Given the description of an element on the screen output the (x, y) to click on. 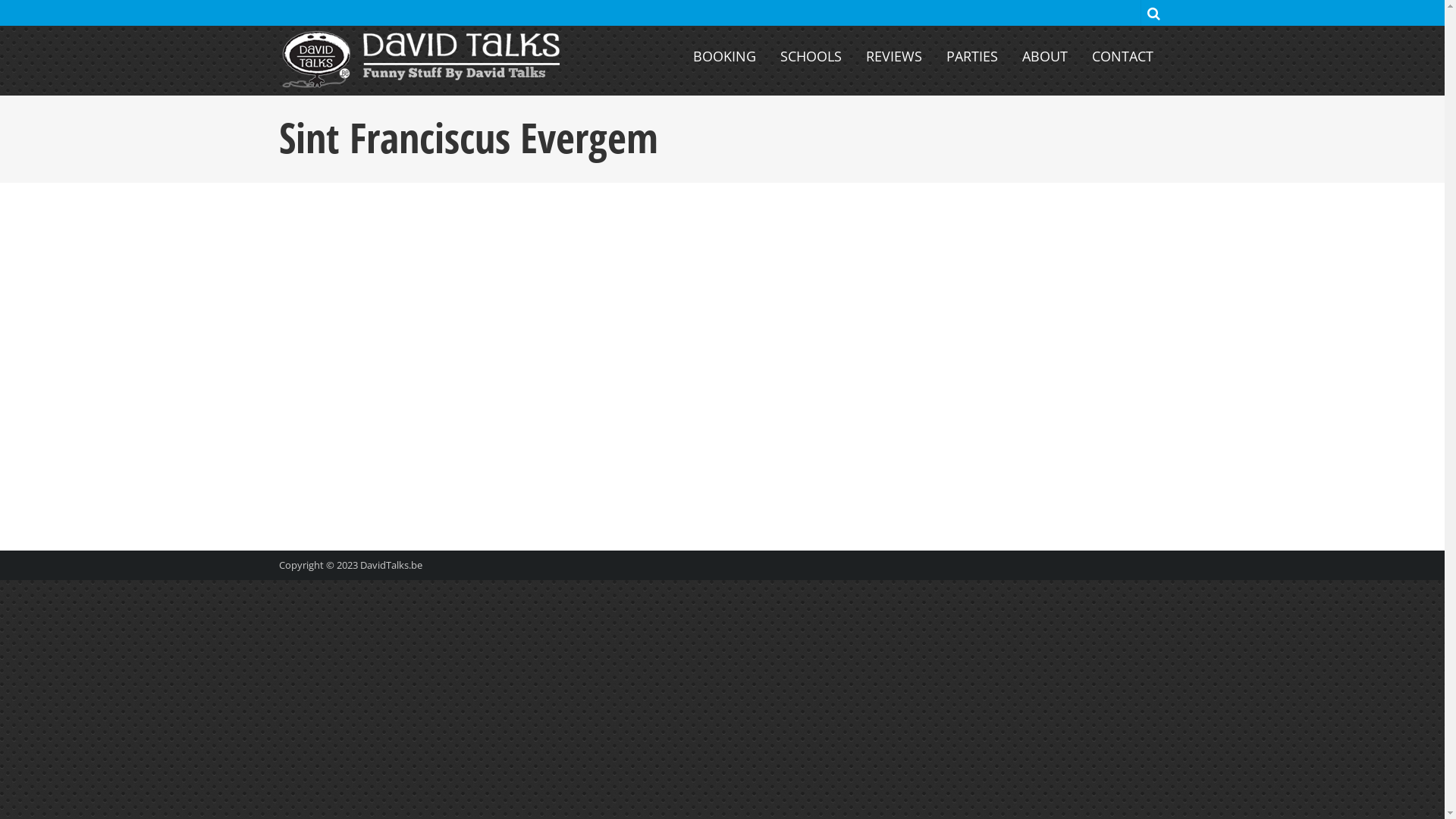
CONTACT Element type: text (1121, 55)
BOOKING Element type: text (723, 55)
DavidTalks.be Element type: text (390, 564)
ABOUT Element type: text (1044, 55)
SCHOOLS Element type: text (810, 55)
PARTIES Element type: text (971, 55)
REVIEWS Element type: text (892, 55)
